Given the description of an element on the screen output the (x, y) to click on. 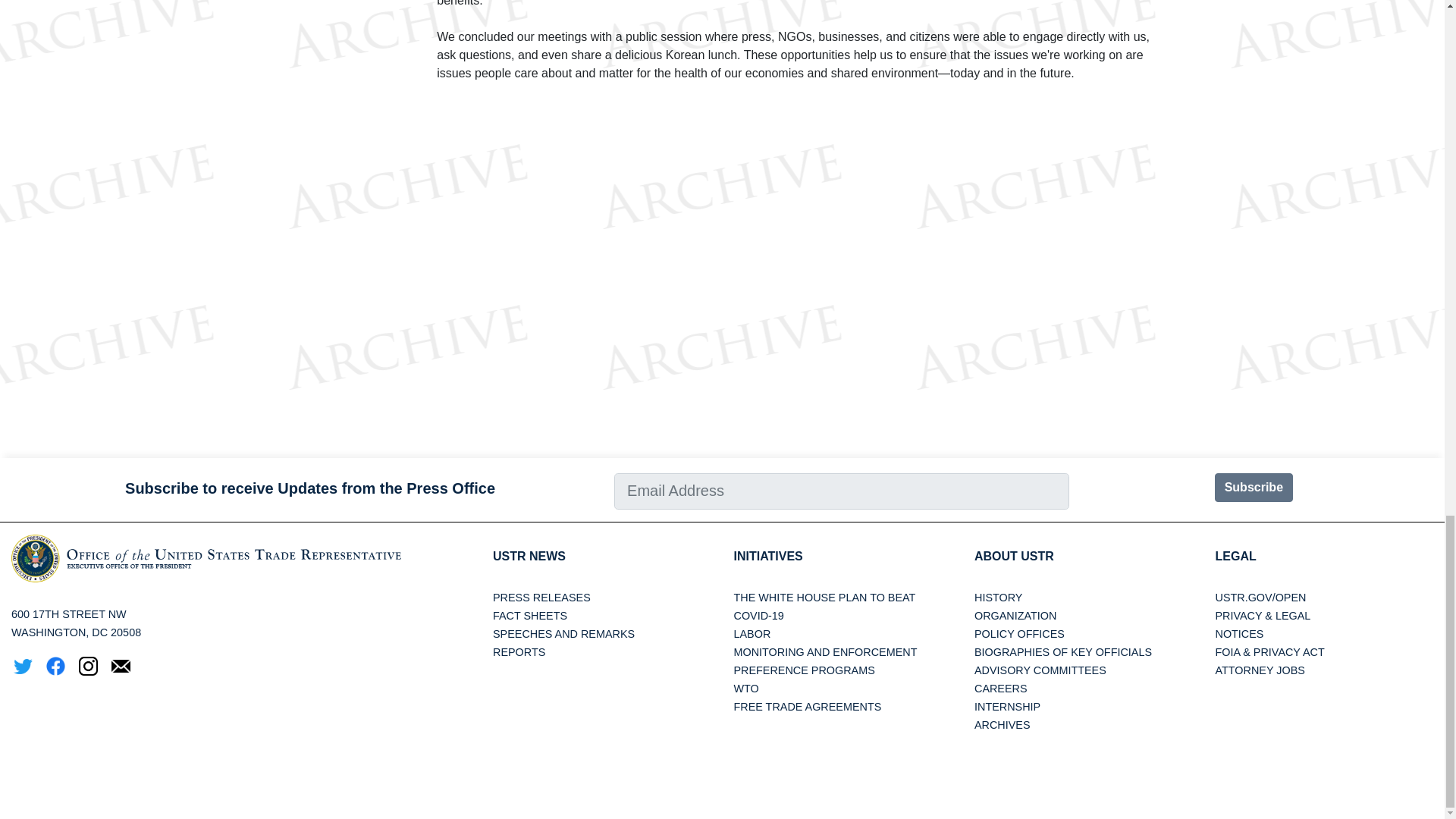
Subscribe (1253, 487)
REPORTS (518, 652)
INITIATIVES (767, 555)
SPEECHES AND REMARKS (563, 633)
USTR NEWS (529, 555)
PRESS RELEASES (542, 597)
FACT SHEETS (530, 615)
THE WHITE HOUSE PLAN TO BEAT COVID-19 (824, 606)
